Given the description of an element on the screen output the (x, y) to click on. 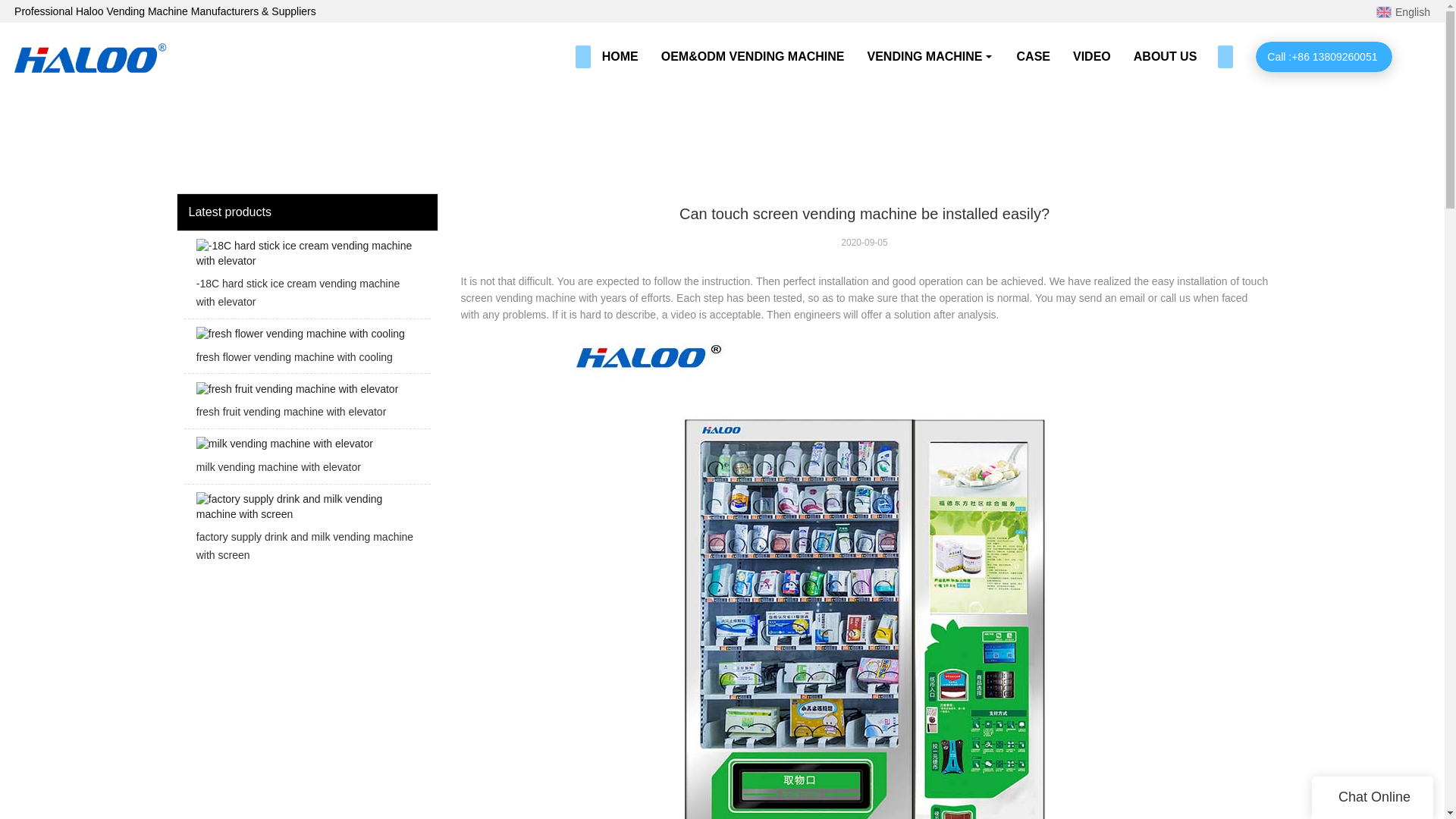
milk vending machine with elevator (306, 460)
fresh flower vending machine with cooling (306, 349)
factory supply drink and milk vending machine with screen (306, 531)
-18C hard stick ice cream vending machine with elevator (306, 278)
ABOUT US (1165, 56)
VENDING MACHINE (931, 56)
fresh fruit vending machine with elevator (306, 404)
